Given the description of an element on the screen output the (x, y) to click on. 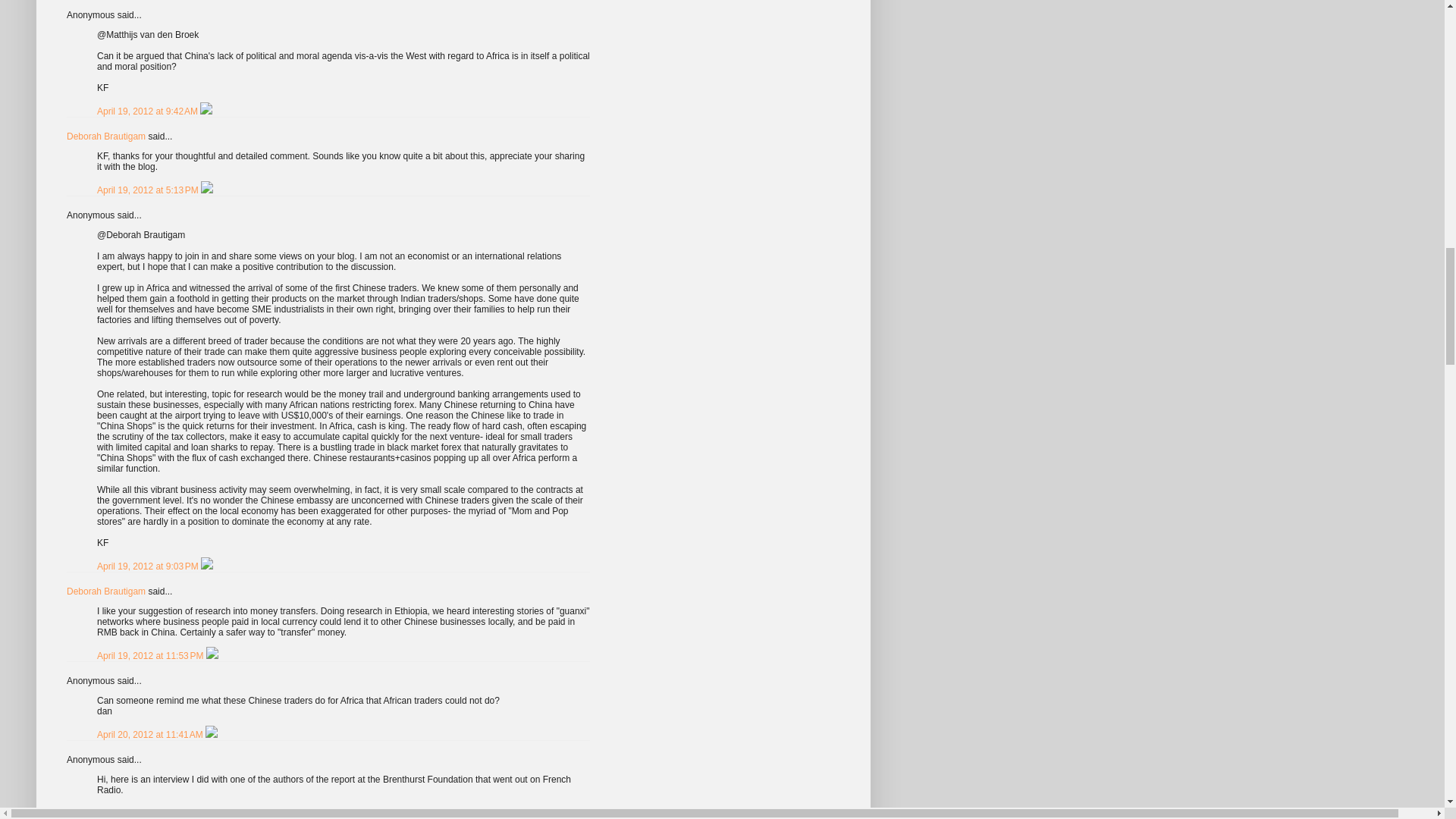
Deborah Brautigam (105, 136)
